Given the description of an element on the screen output the (x, y) to click on. 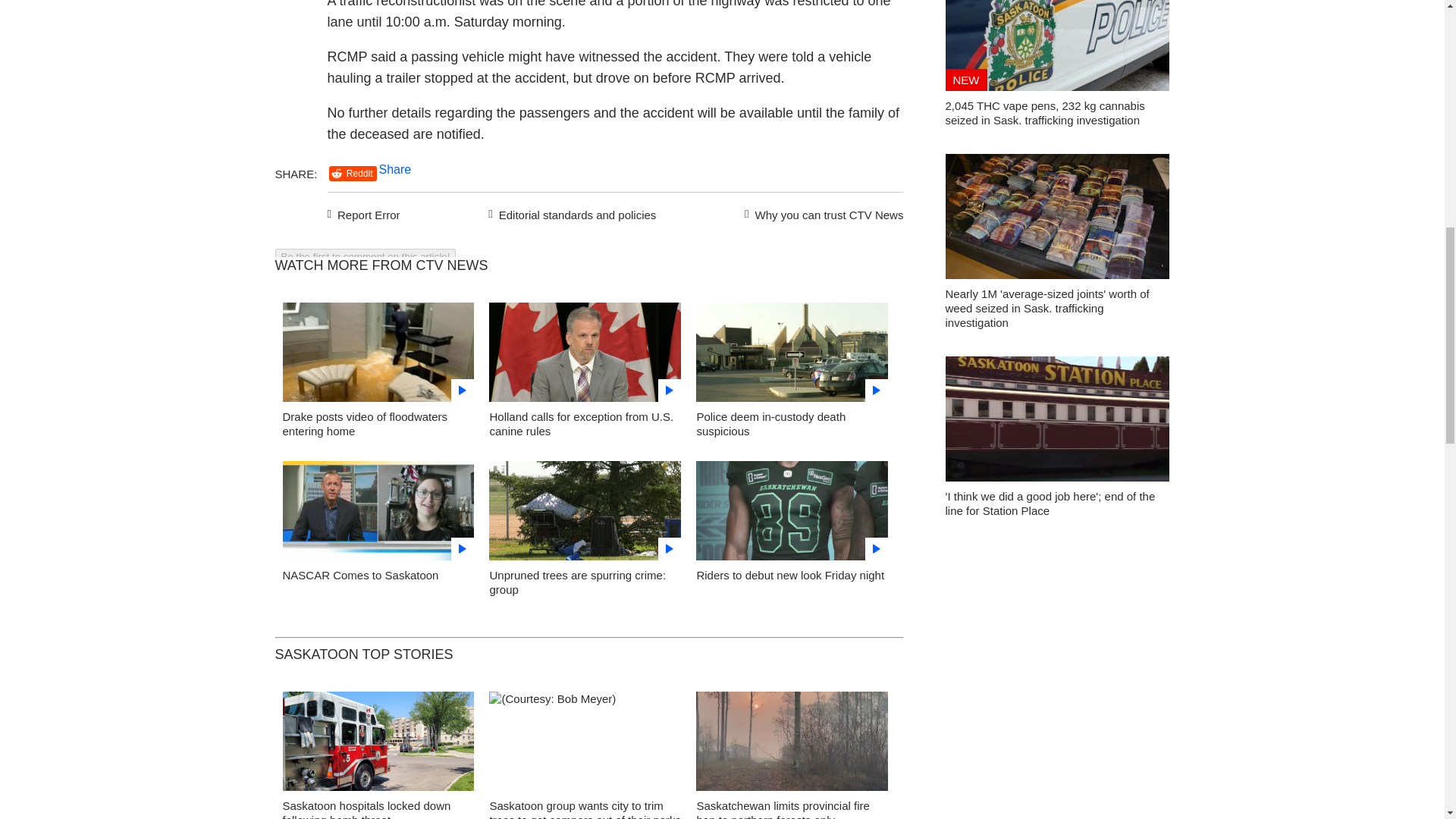
Unpruned trees are spurring crime: group (577, 582)
HOLLAND (585, 356)
false (378, 352)
Holland calls for exception from U.S. canine rules (580, 423)
Riders to debut new look Friday night (789, 574)
Police deem in-custody death suspicious (770, 423)
Reddit (353, 173)
Be the first to comment on this article! (365, 256)
Saskatoon hospitals locked down following bomb threat (365, 809)
Drake posts video of floodwaters entering home (364, 423)
Unpruned trees are spurring crime: group (585, 514)
Riders show off obsidian green jerseys (791, 514)
NASCAR Comes to Saskatoon (360, 574)
